Given the description of an element on the screen output the (x, y) to click on. 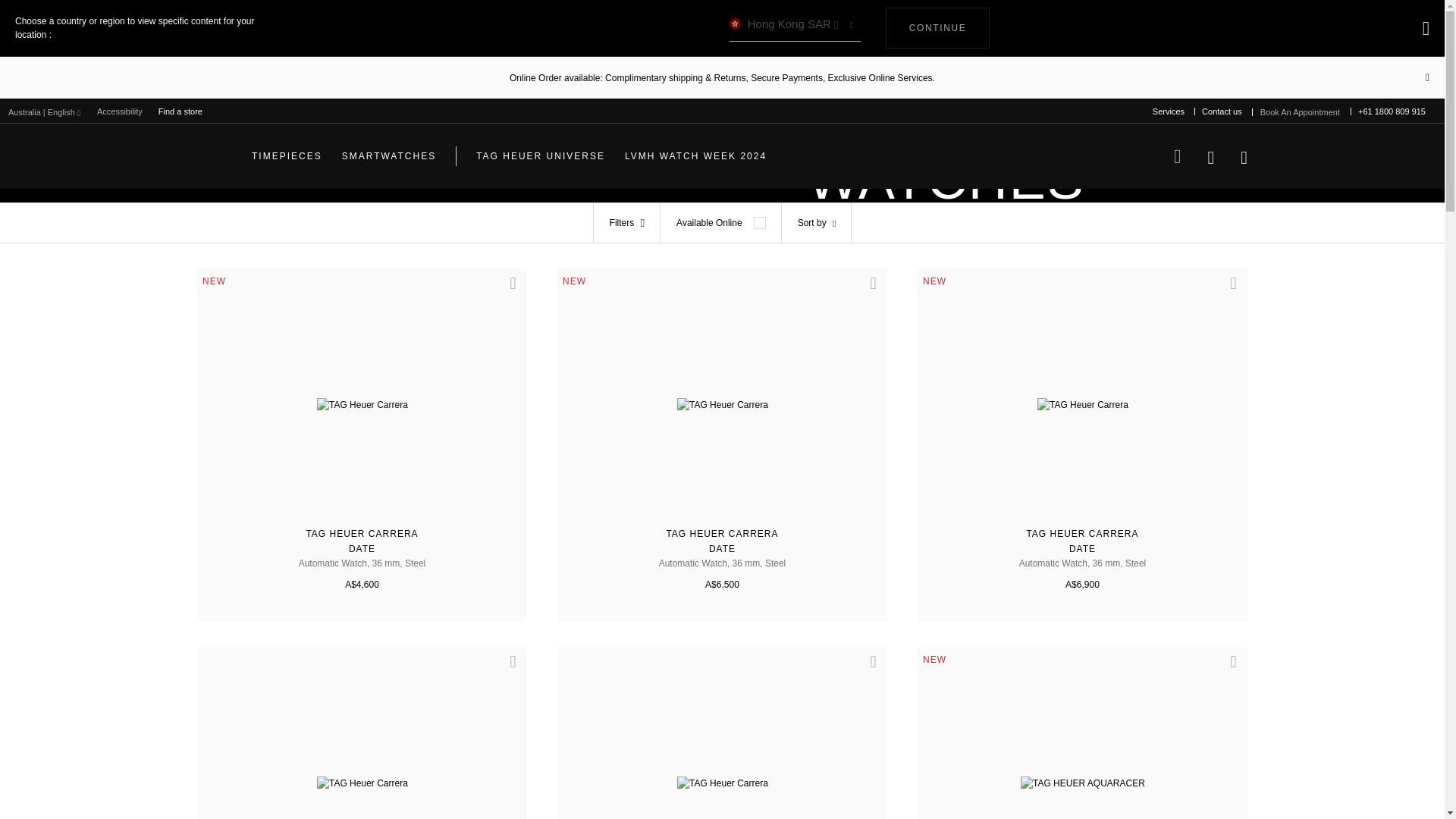
Hong Kong SAR (795, 27)
Find a store (180, 110)
Services (1168, 111)
Contact us (1221, 111)
Accessibility (119, 111)
TIMEPIECES (937, 27)
Book An Appointment (286, 156)
